Given the description of an element on the screen output the (x, y) to click on. 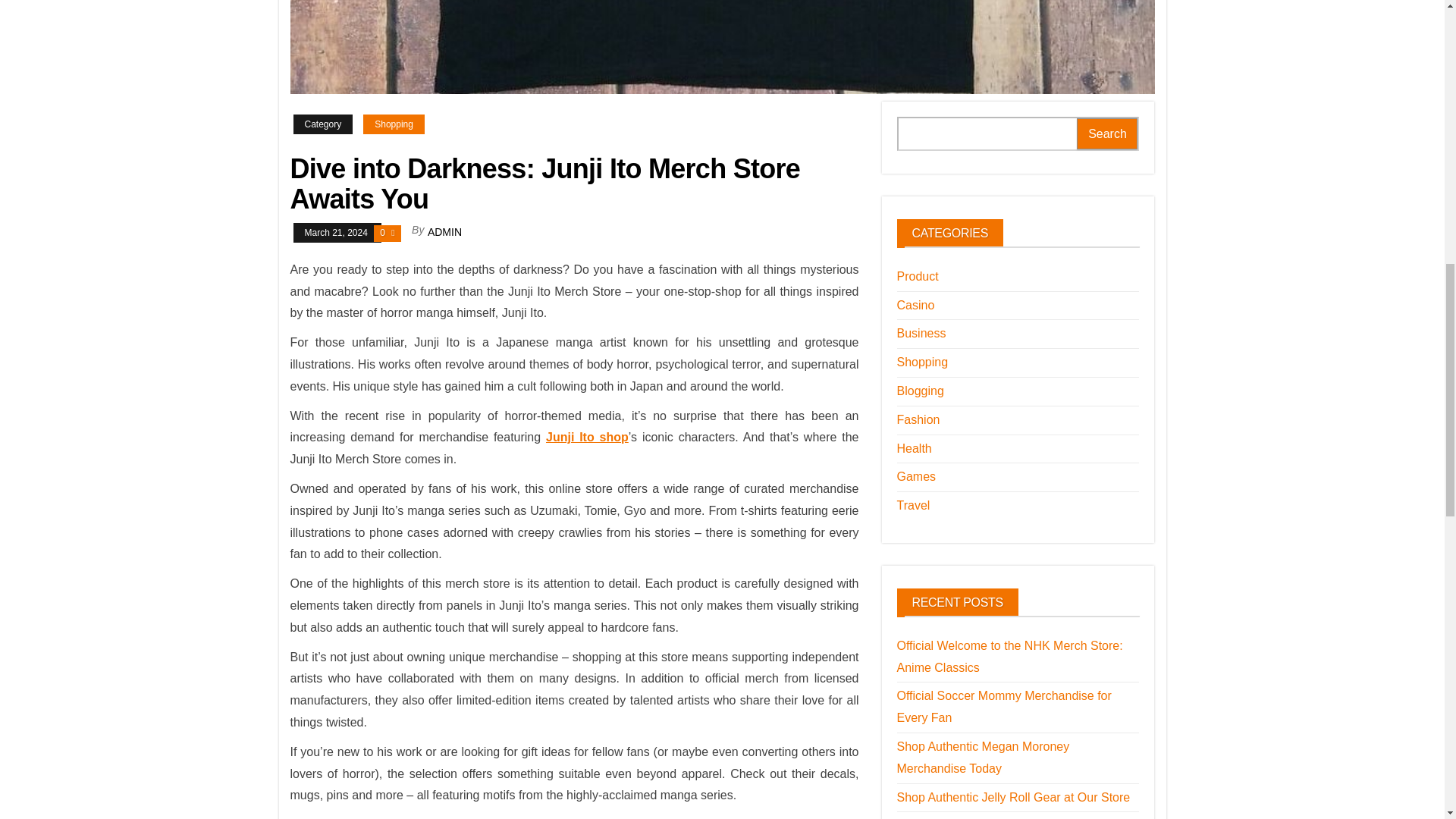
Health (913, 448)
Search (1107, 133)
Travel (913, 504)
Junji Ito shop (587, 436)
Dive into Darkness: Junji Ito Merch Store Awaits You (721, 47)
Shopping (393, 124)
Business (920, 332)
Search (1107, 133)
Games (916, 476)
Fashion (917, 419)
ADMIN (444, 232)
Casino (915, 305)
Product (916, 276)
Shopping (921, 361)
Blogging (919, 390)
